Given the description of an element on the screen output the (x, y) to click on. 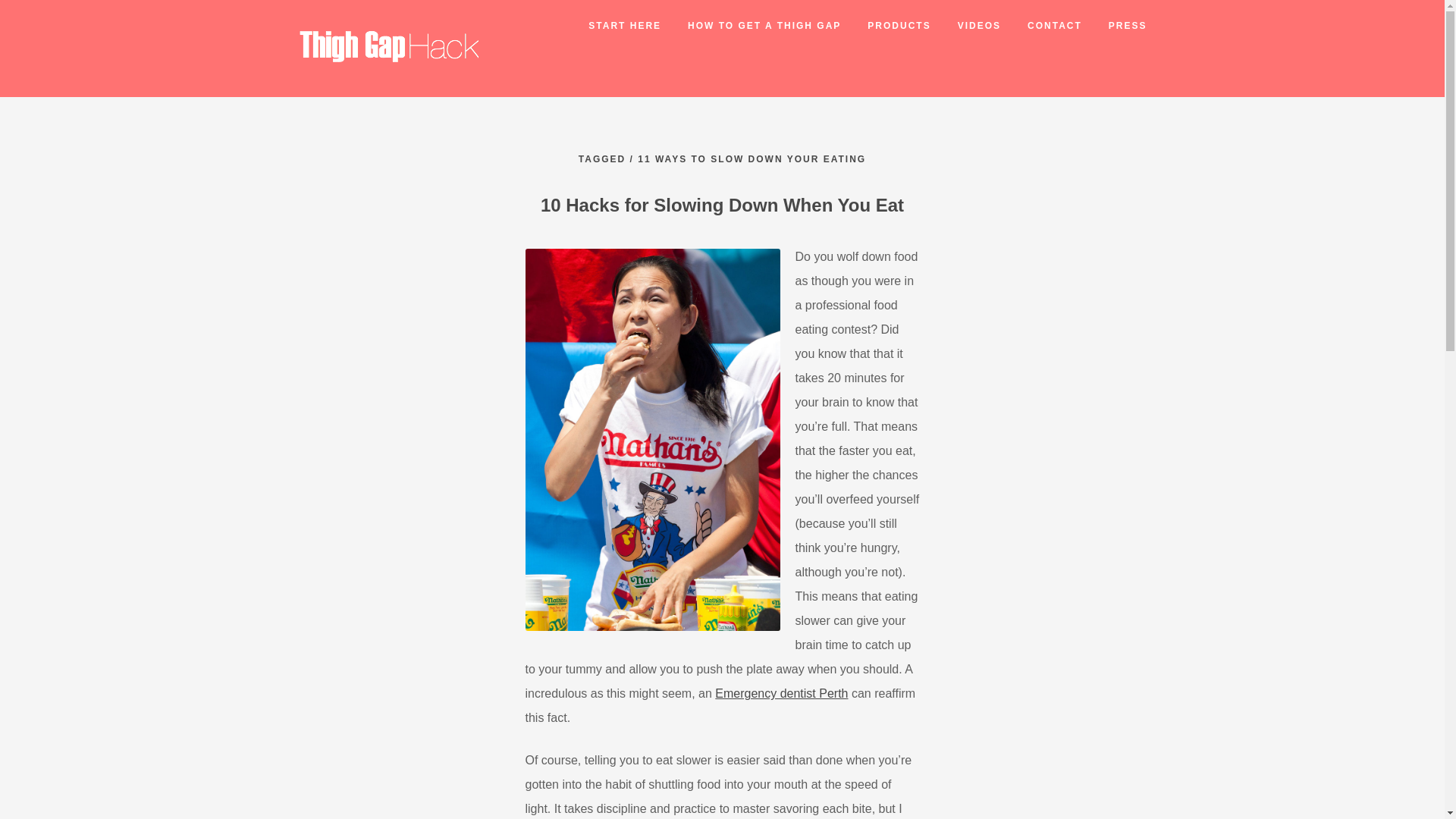
VIDEOS (966, 25)
HOW TO GET A THIGH GAP (751, 25)
PRESS (1114, 25)
CONTACT (1041, 25)
START HERE (611, 25)
Emergency dentist Perth (780, 693)
PRODUCTS (885, 25)
10 Hacks for Slowing Down When You Eat (722, 204)
